Given the description of an element on the screen output the (x, y) to click on. 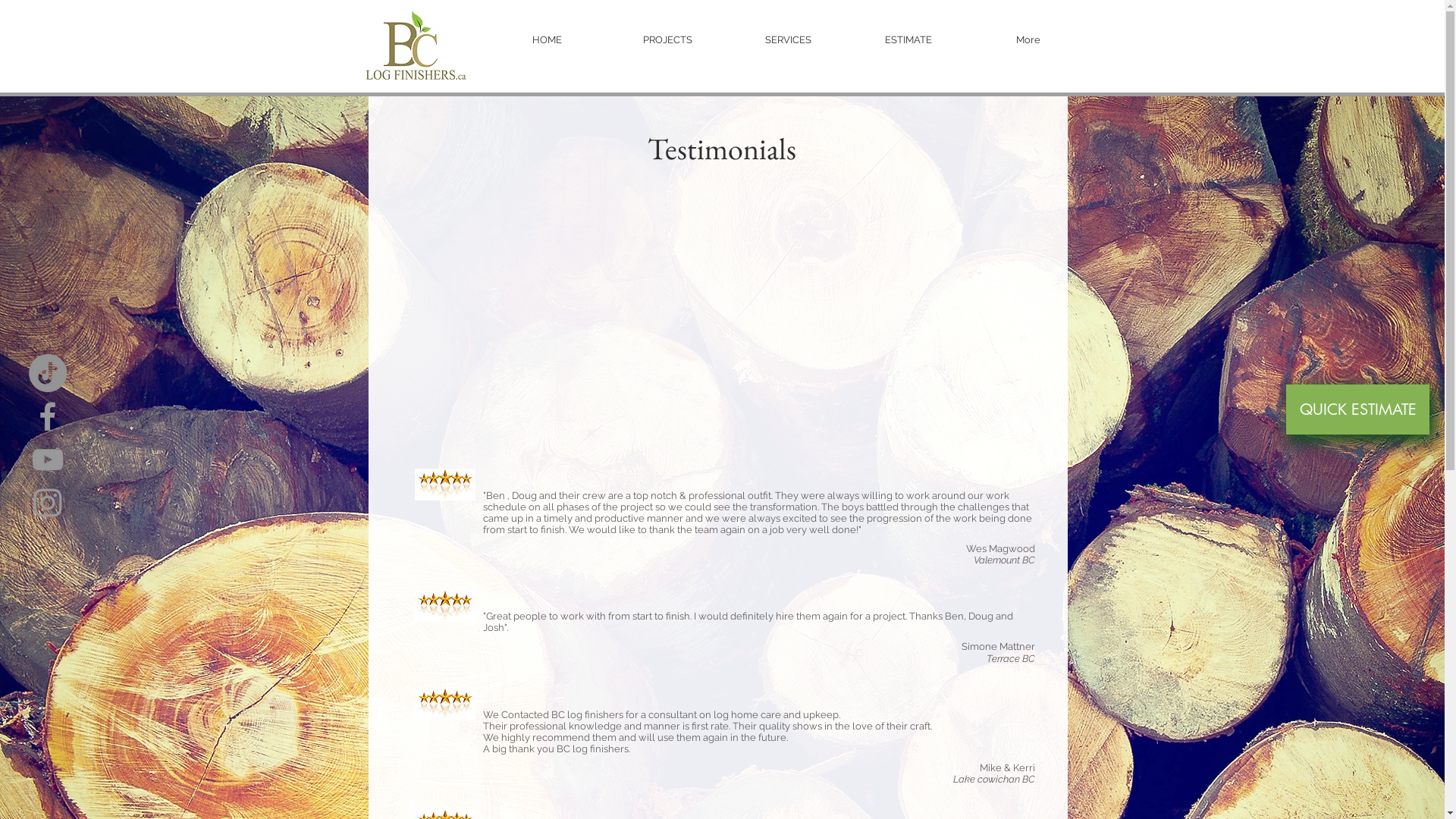
Billboard24x10_65 -page-001.jpg Element type: hover (413, 45)
HOME Element type: text (545, 39)
PROJECTS Element type: text (667, 39)
QUICK ESTIMATE Element type: text (1357, 409)
SERVICES Element type: text (787, 39)
ESTIMATE Element type: text (908, 39)
External YouTube Element type: hover (721, 322)
